Given the description of an element on the screen output the (x, y) to click on. 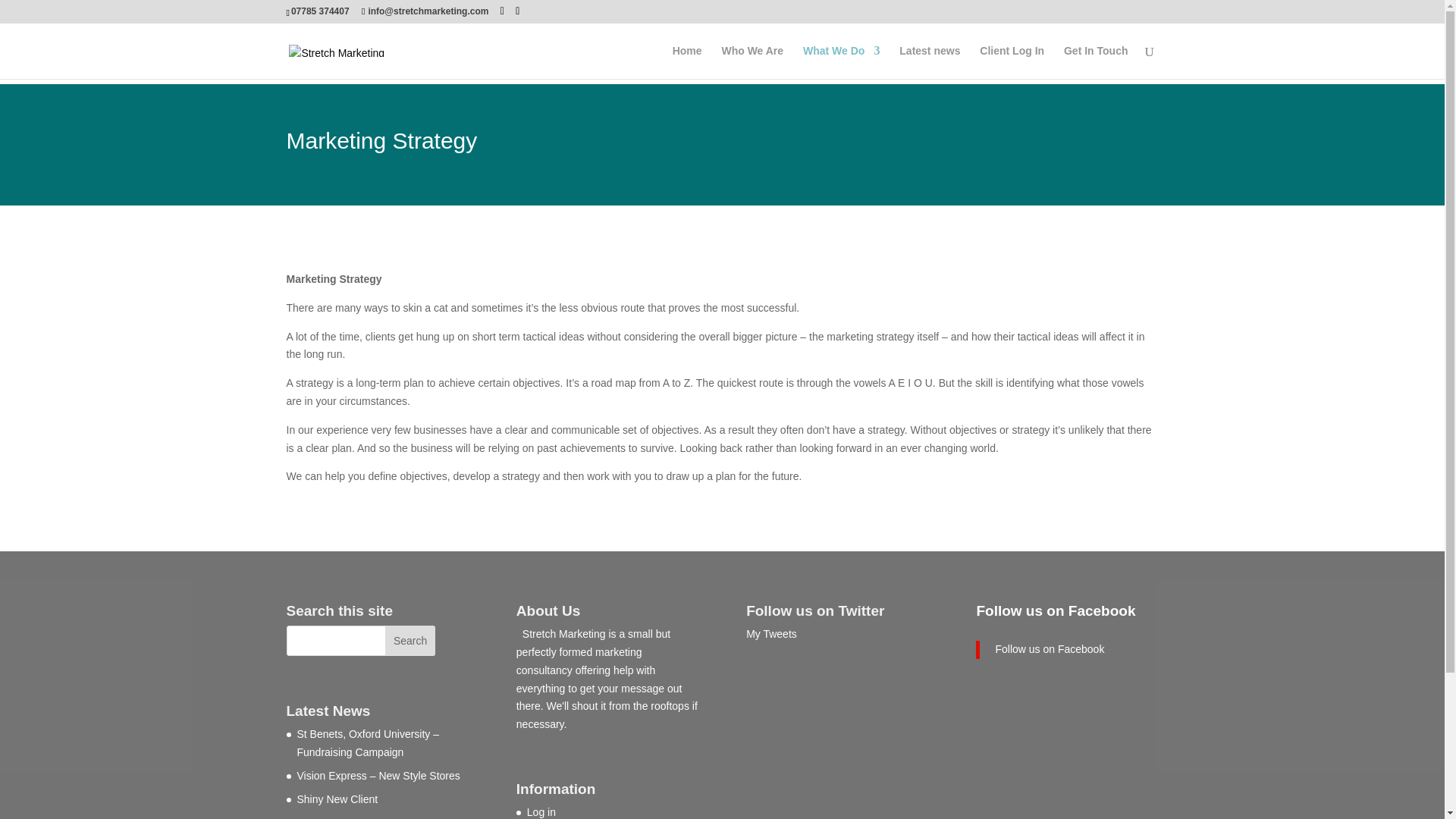
My Tweets (770, 633)
Client Log In (1011, 61)
Follow us on Facebook (1048, 648)
Get In Touch (1096, 61)
Log in (541, 811)
Shiny New Client (337, 799)
Follow us on Facebook (1055, 610)
Search (410, 640)
Latest news (929, 61)
Search (410, 640)
